Given the description of an element on the screen output the (x, y) to click on. 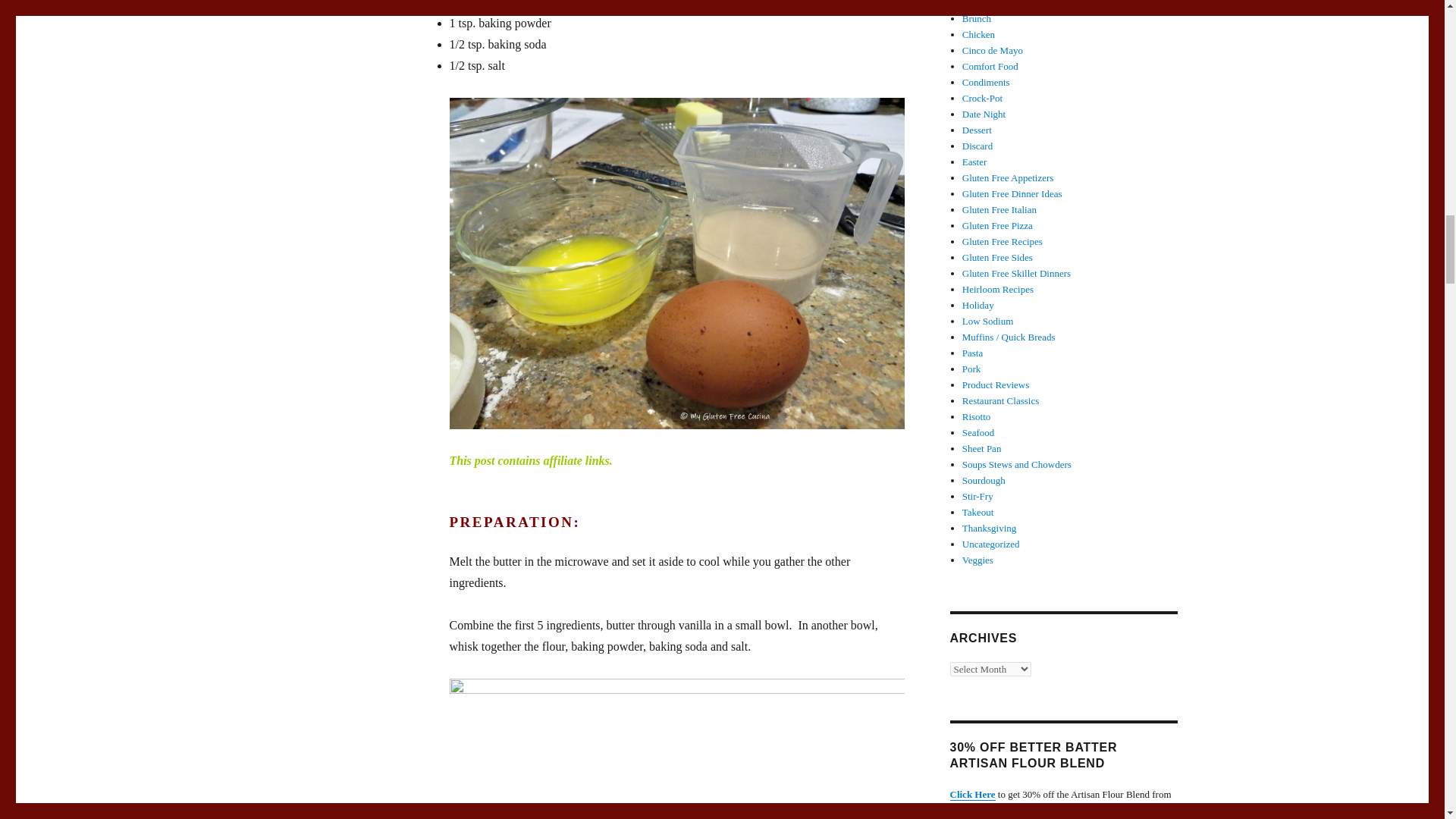
gluten free all-purpose flour (547, 4)
